Given the description of an element on the screen output the (x, y) to click on. 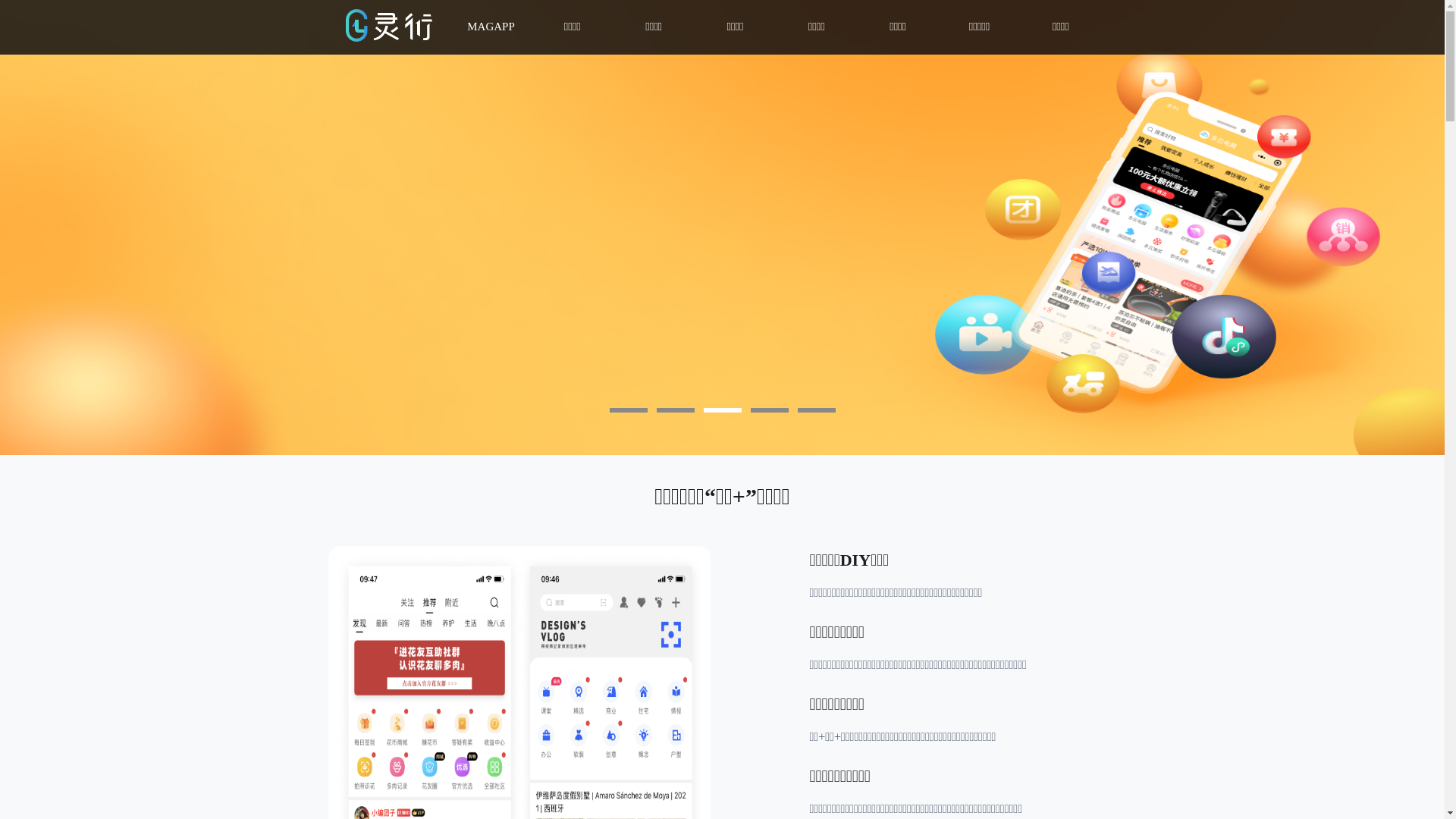
MAGAPP Element type: text (490, 26)
